Given the description of an element on the screen output the (x, y) to click on. 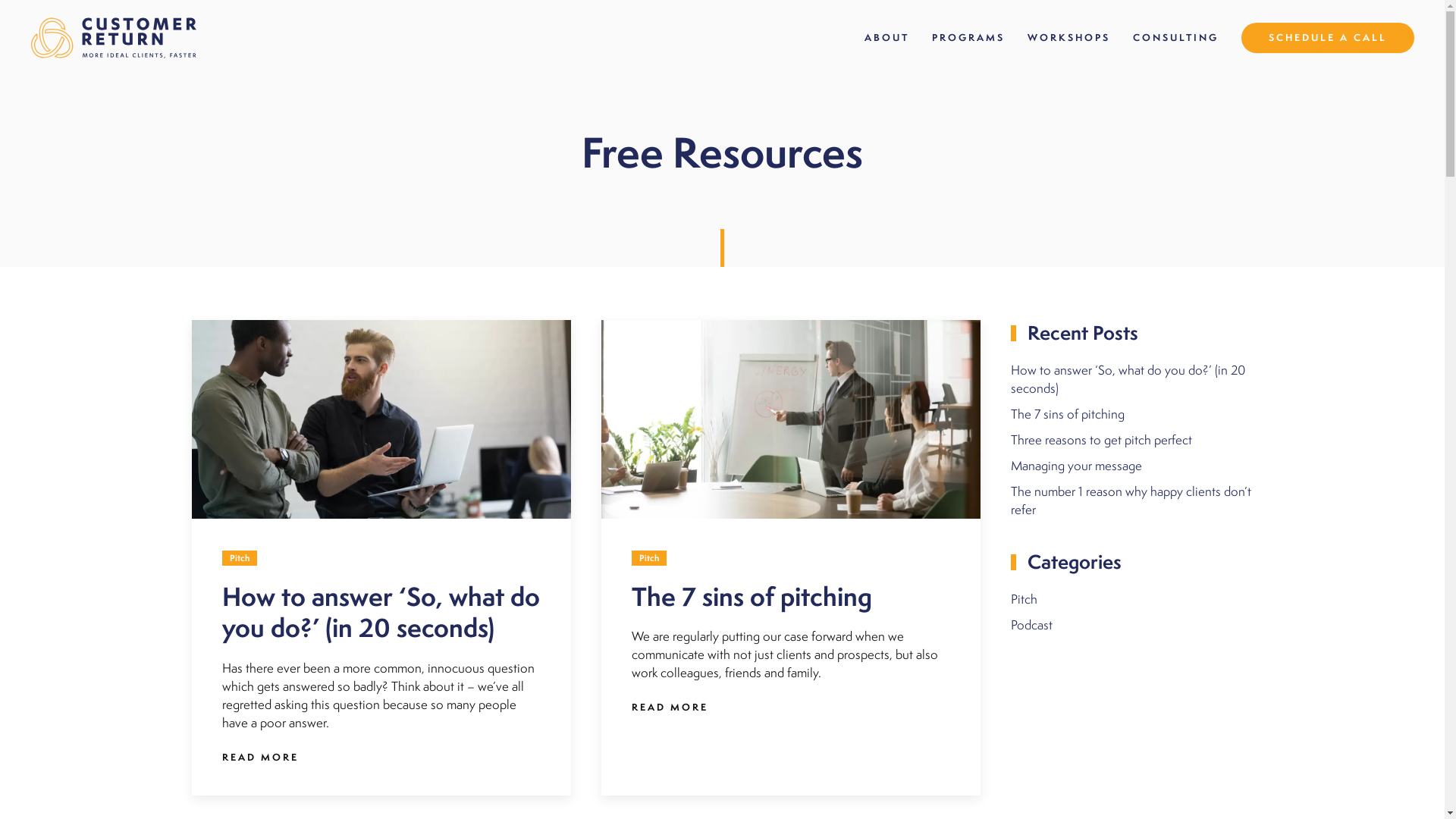
Podcast Element type: text (1030, 624)
Pitch Element type: text (1023, 598)
CONSULTING Element type: text (1175, 37)
Managing your message Element type: text (1075, 464)
Three reasons to get pitch perfect Element type: text (1100, 439)
The 7 sins of pitching Element type: text (1066, 413)
WORKSHOPS Element type: text (1068, 37)
SCHEDULE A CALL Element type: text (1327, 37)
ABOUT Element type: text (886, 37)
PROGRAMS Element type: text (967, 37)
